Given the description of an element on the screen output the (x, y) to click on. 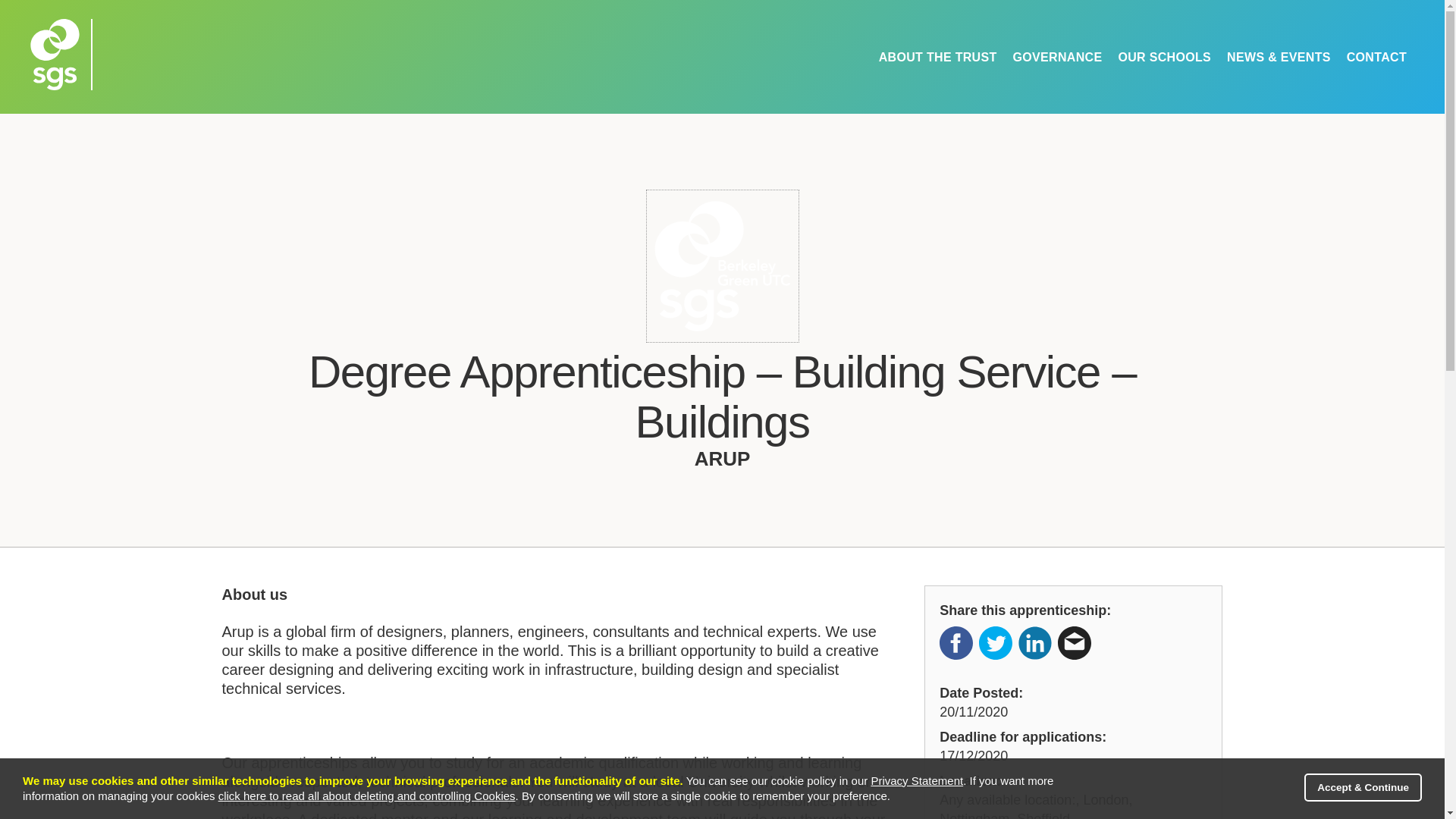
Share via Facebook (955, 643)
SGS Berkeley Green UTC (240, 83)
OUR SCHOOLS (1163, 57)
About Cookies Website (366, 795)
CONTACT (1376, 57)
SGS Pegasus School (721, 83)
Share via Twitter (994, 643)
ABOUT THE TRUST (937, 57)
Share via Email (1074, 643)
Share via LinkedIn (1034, 643)
GOVERNANCE (1057, 57)
